Given the description of an element on the screen output the (x, y) to click on. 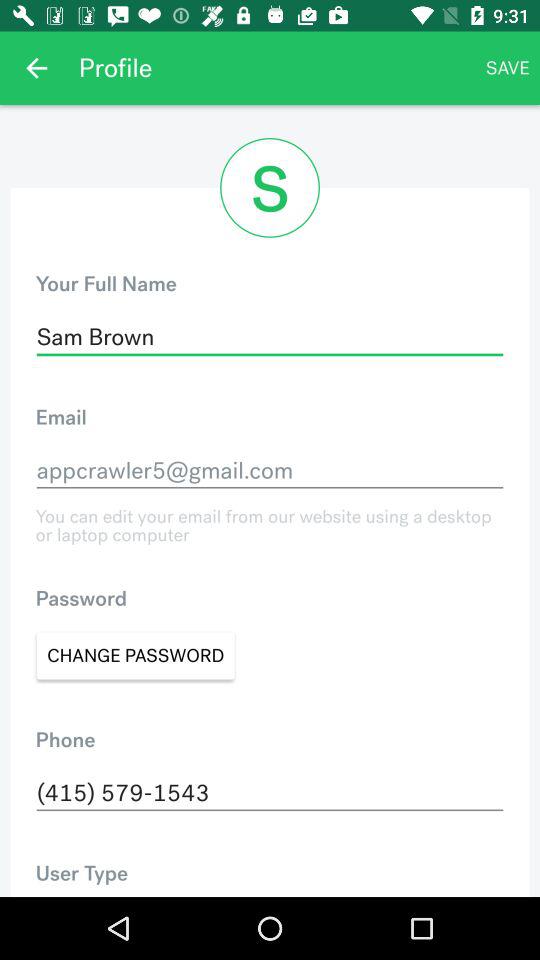
open the item to the left of profile app (36, 68)
